Given the description of an element on the screen output the (x, y) to click on. 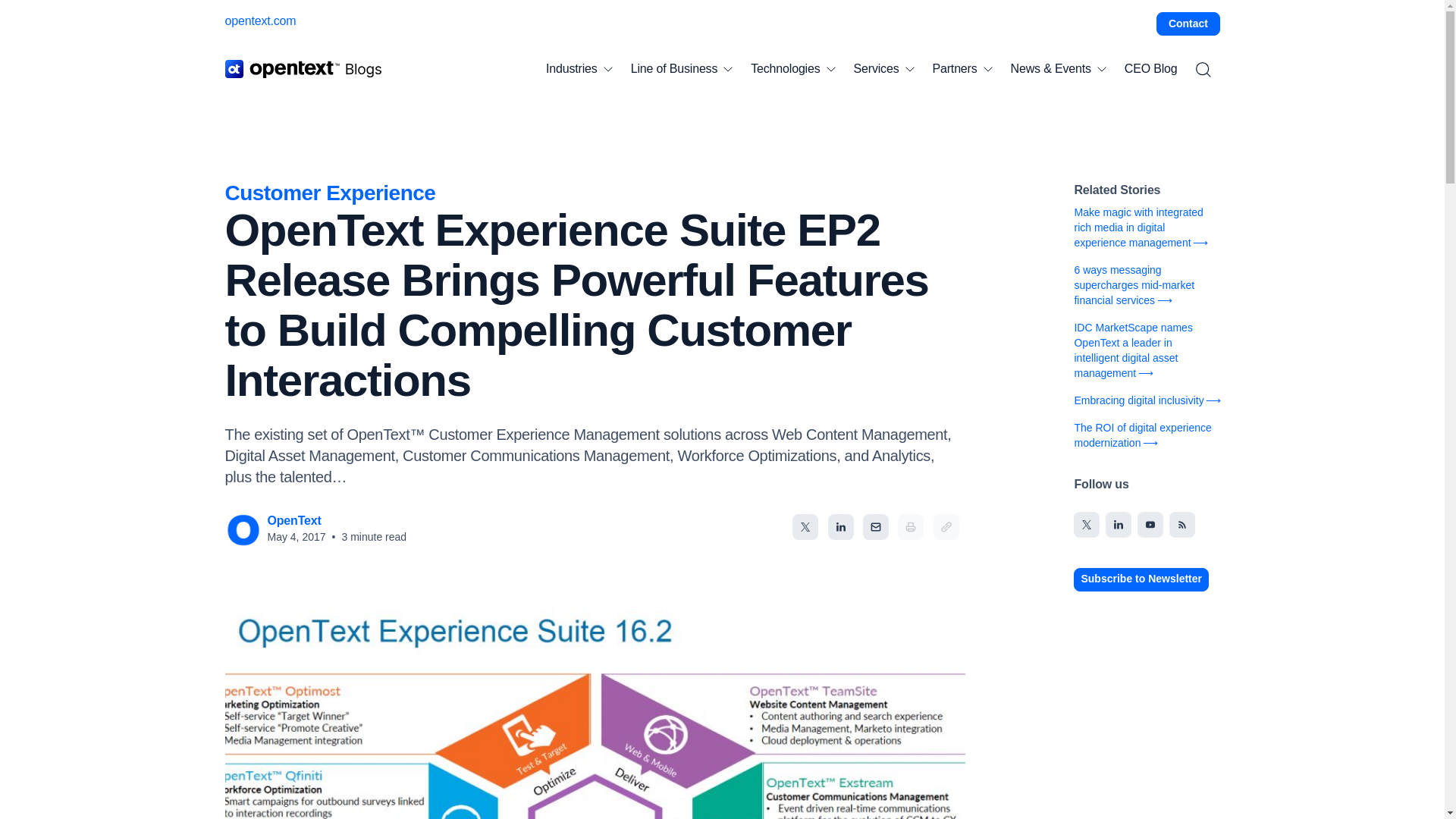
Line of Business (681, 69)
Contact (1188, 24)
OpenText blogs home page (302, 68)
opentext.com (259, 20)
Industries (579, 69)
Technologies (792, 69)
